Given the description of an element on the screen output the (x, y) to click on. 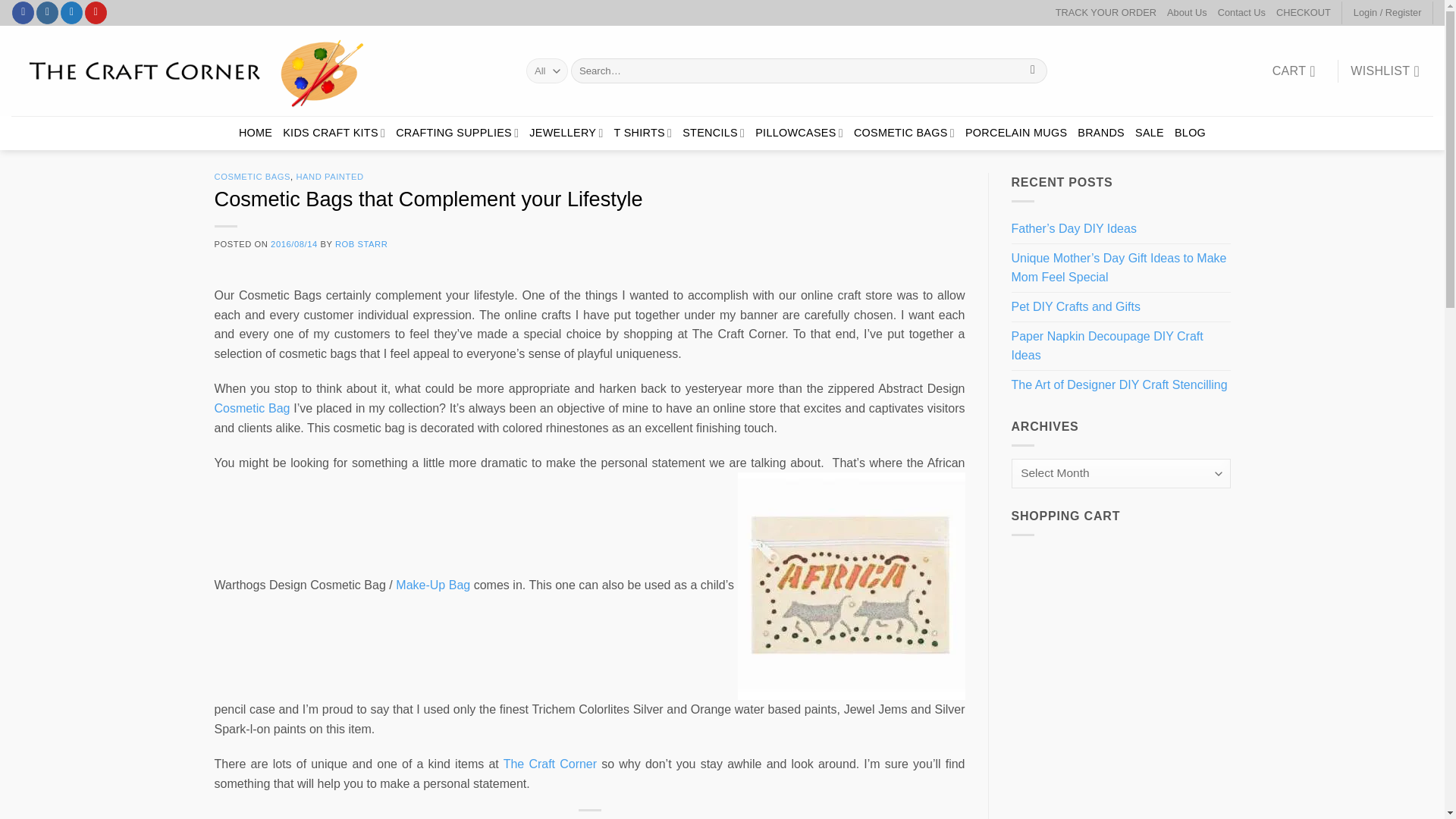
WISHLIST (1385, 70)
CRAFTING SUPPLIES (457, 132)
Cosmetic Bags (251, 408)
Follow on Instagram (47, 12)
KIDS CRAFT KITS (333, 132)
About Us (1187, 12)
Cart (1298, 70)
HOME (255, 132)
Follow on Twitter (71, 12)
Follow on Pinterest (95, 12)
CART (1298, 70)
Search (1032, 71)
TRACK YOUR ORDER (1105, 12)
CHECKOUT (1303, 12)
Login (1388, 12)
